Given the description of an element on the screen output the (x, y) to click on. 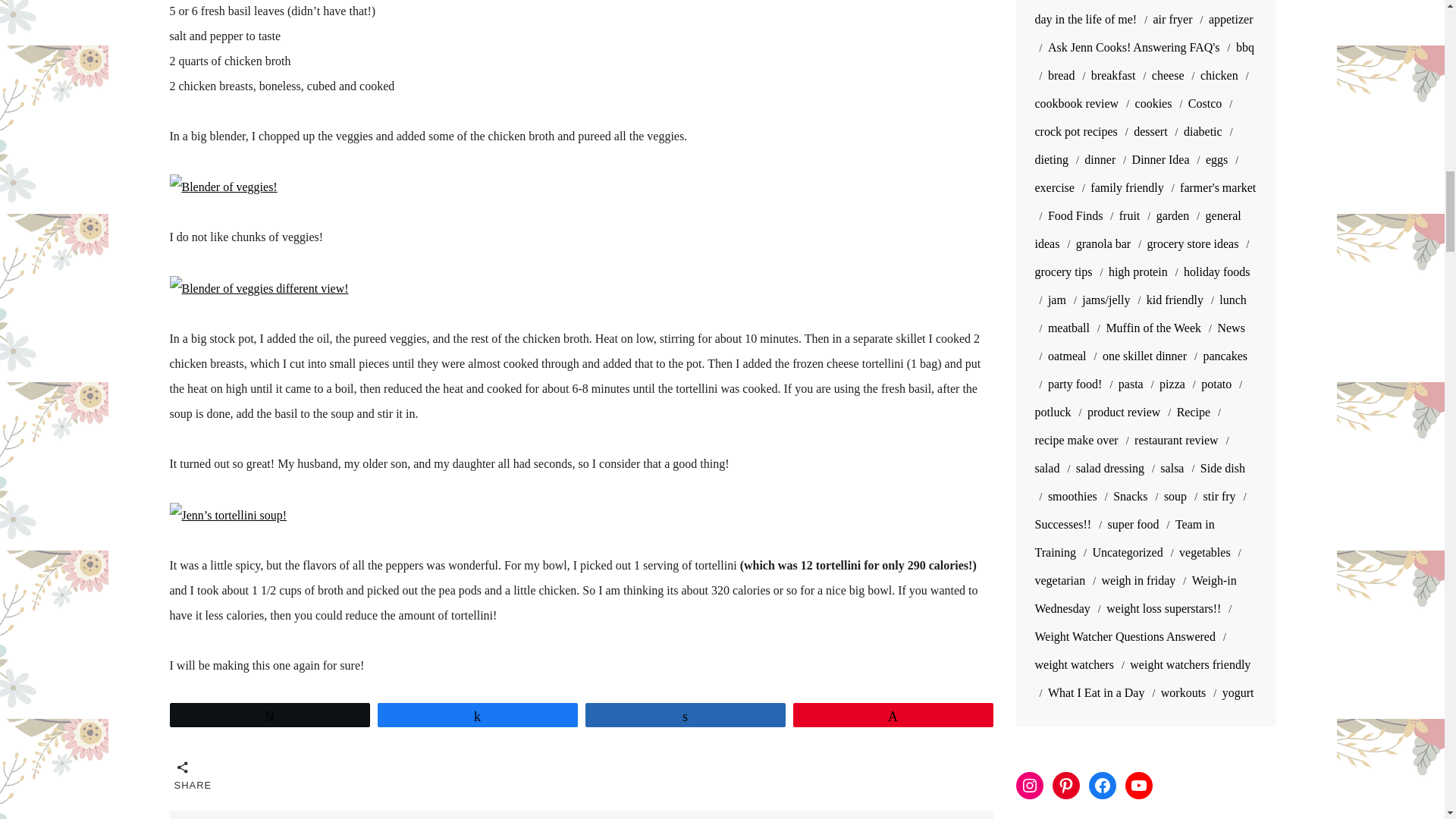
Blender of veggies! (224, 185)
Blender of veggies different view! (259, 286)
Lemon Poppyseed tea cakes (912, 814)
Oven Roasted Tomato Sauce (251, 814)
SHARE (183, 772)
